Given the description of an element on the screen output the (x, y) to click on. 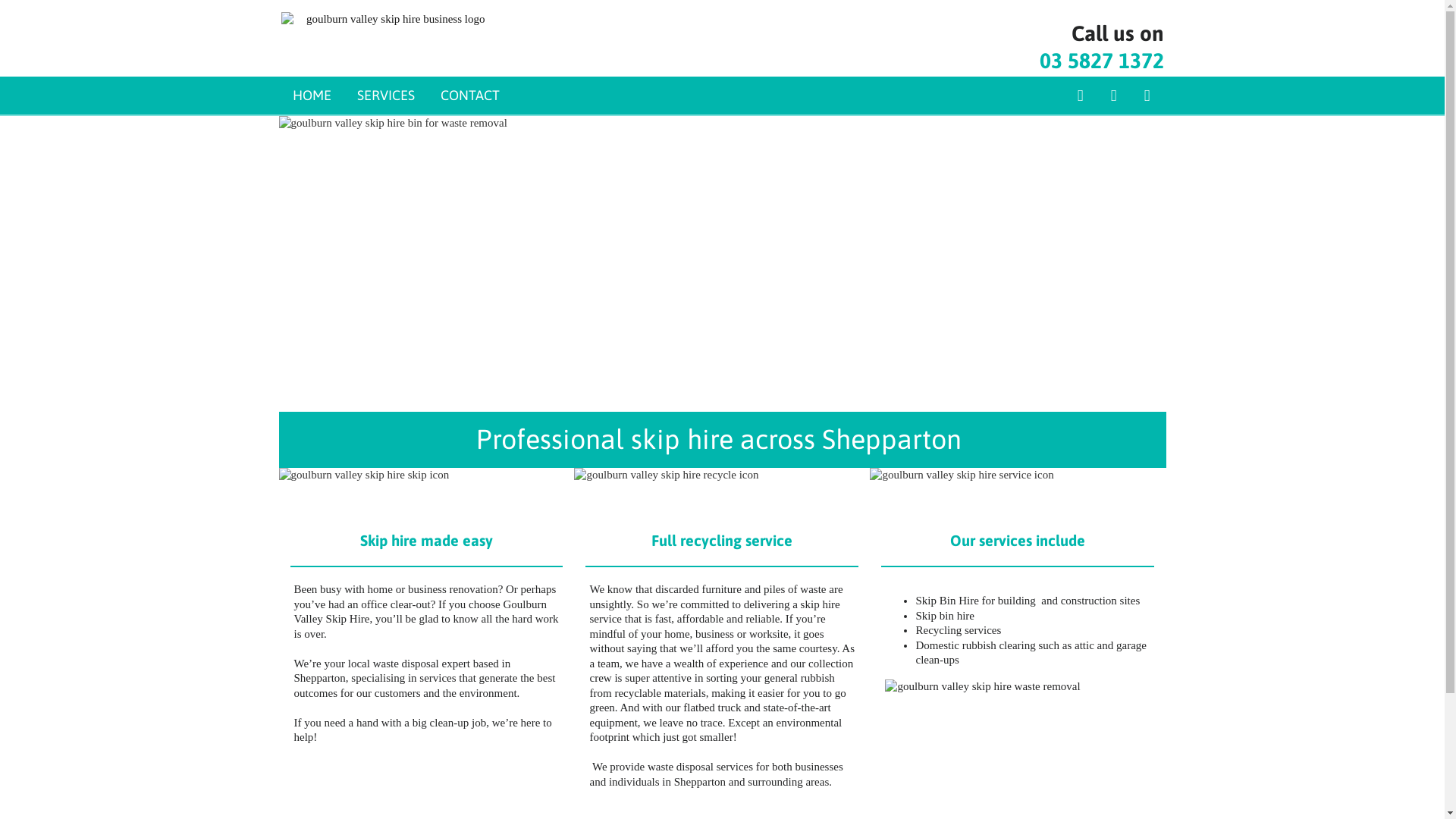
goulburn valley skip hire bin for waste removal Element type: hover (722, 263)
goulburn valley skip hire business logo Element type: hover (389, 19)
HOME Element type: text (311, 95)
CONTACT Element type: text (468, 95)
03 5827 1372 Element type: text (1100, 60)
goulburn valley skip hire waste removal Element type: hover (1017, 744)
goulburn valley skip hire service icon Element type: hover (1017, 488)
goulburn valley skip hire recycle icon Element type: hover (721, 488)
goulburn valley skip hire skip icon Element type: hover (426, 488)
SERVICES Element type: text (385, 95)
